Given the description of an element on the screen output the (x, y) to click on. 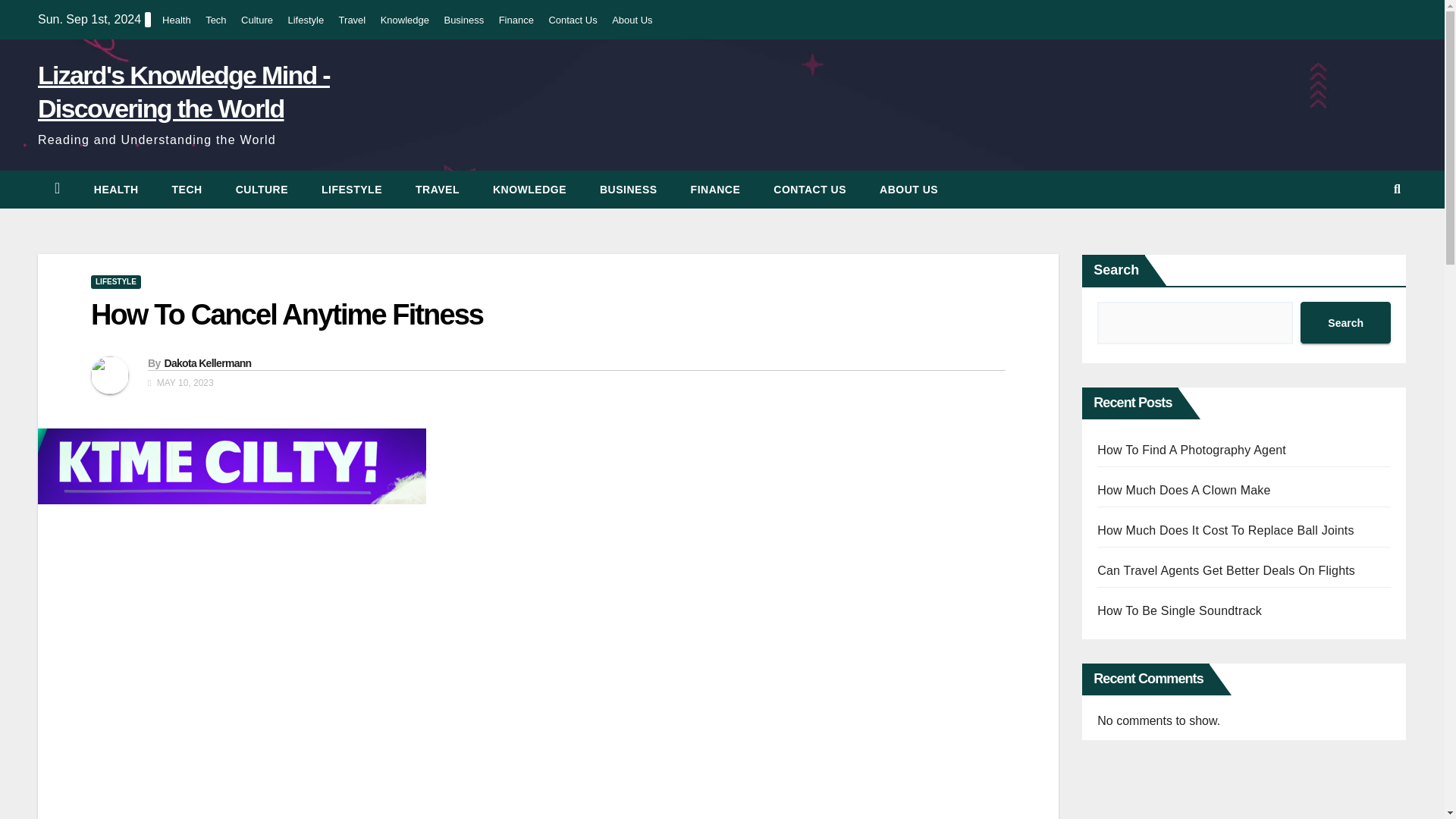
Tech (187, 189)
Travel (437, 189)
Culture (257, 19)
Culture (261, 189)
HEALTH (116, 189)
TECH (187, 189)
Travel (352, 19)
Knowledge (404, 19)
Business (628, 189)
Health (116, 189)
